Given the description of an element on the screen output the (x, y) to click on. 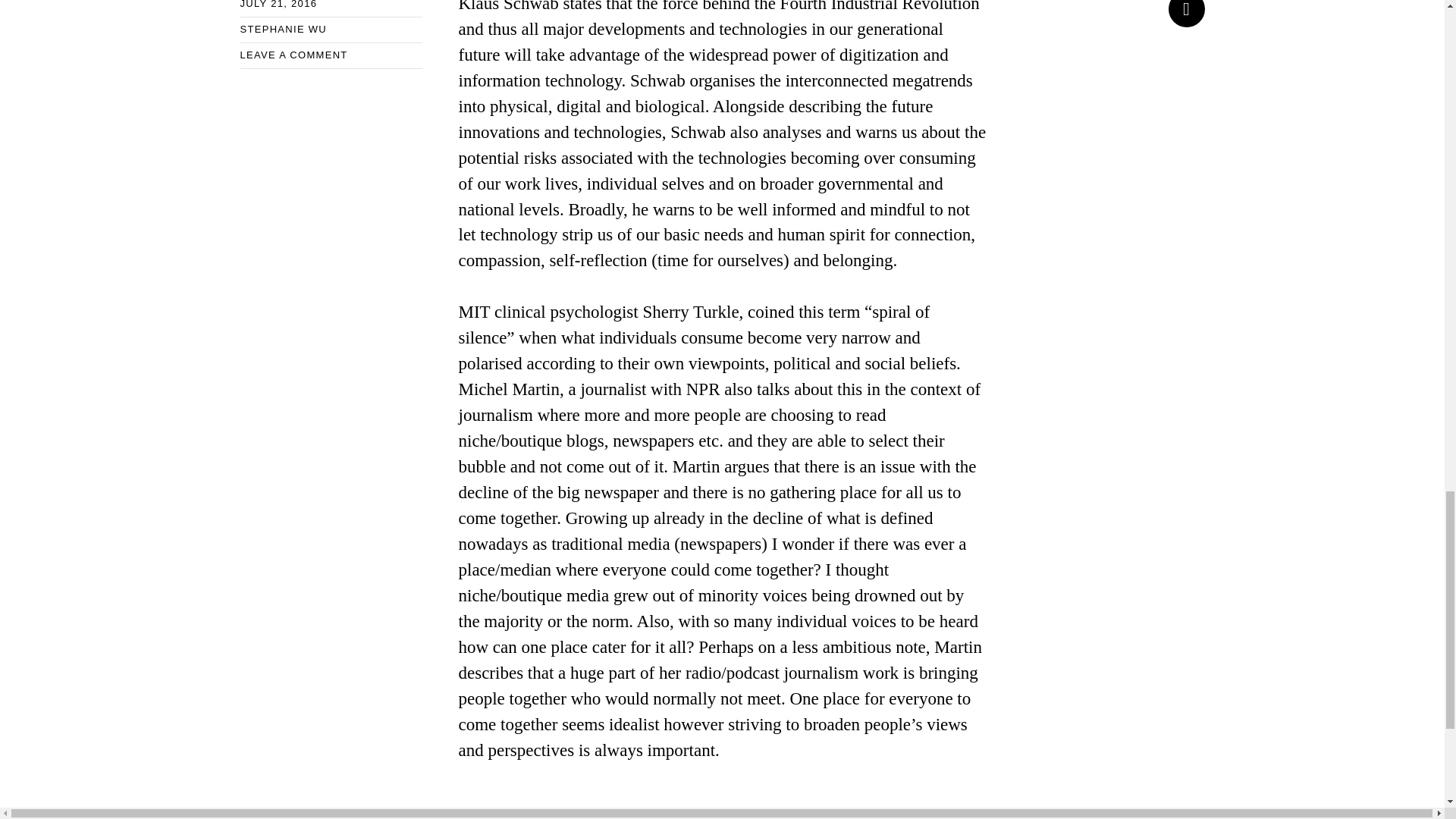
STEPHANIE WU (283, 29)
11:29 pm (278, 4)
LEAVE A COMMENT (293, 54)
JULY 21, 2016 (278, 4)
View all posts by Stephanie Wu (283, 29)
